Given the description of an element on the screen output the (x, y) to click on. 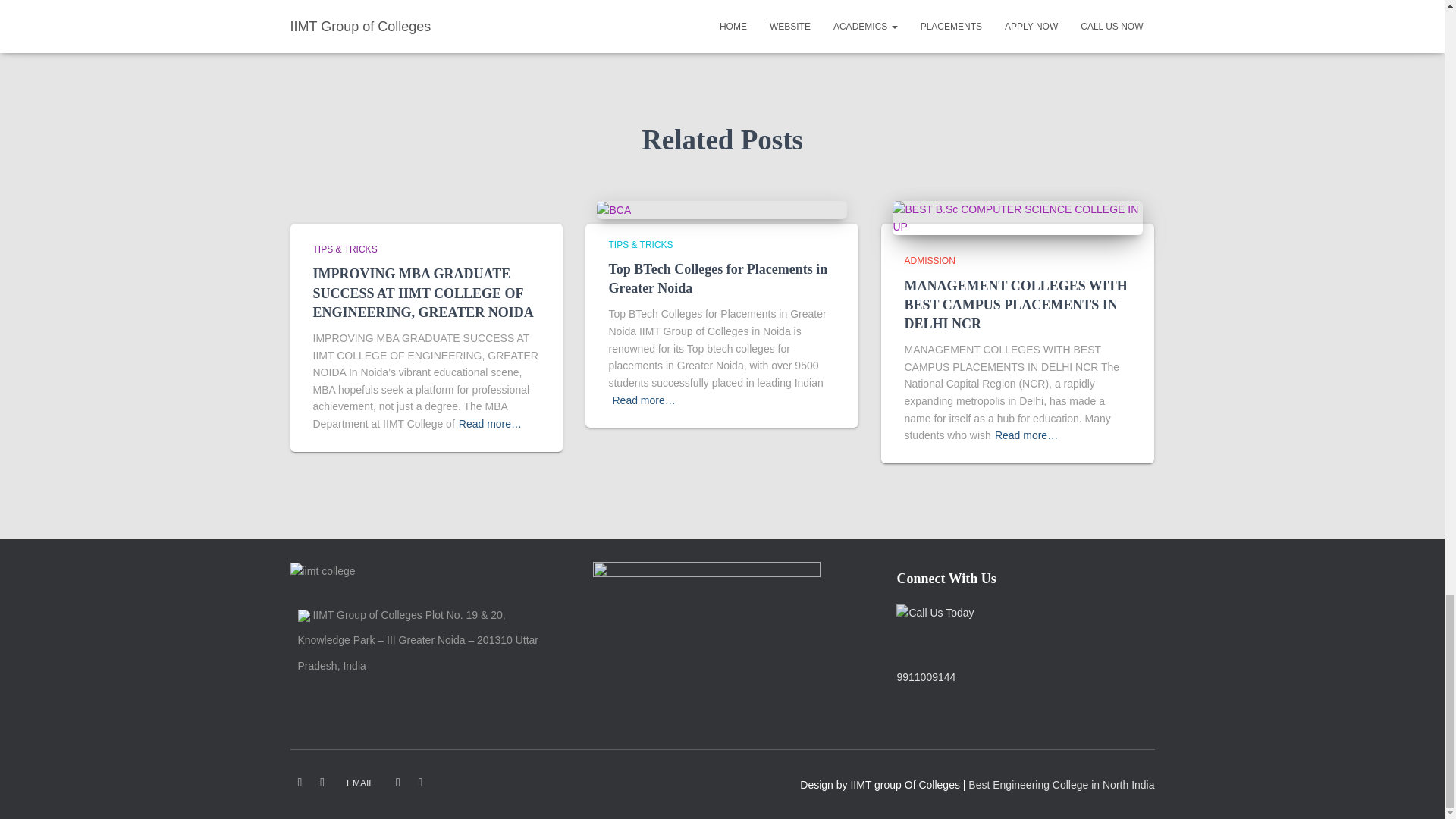
Top BTech Colleges for Placements in Greater Noida (613, 209)
Top BTech Colleges for Placements in Greater Noida (717, 278)
